Given the description of an element on the screen output the (x, y) to click on. 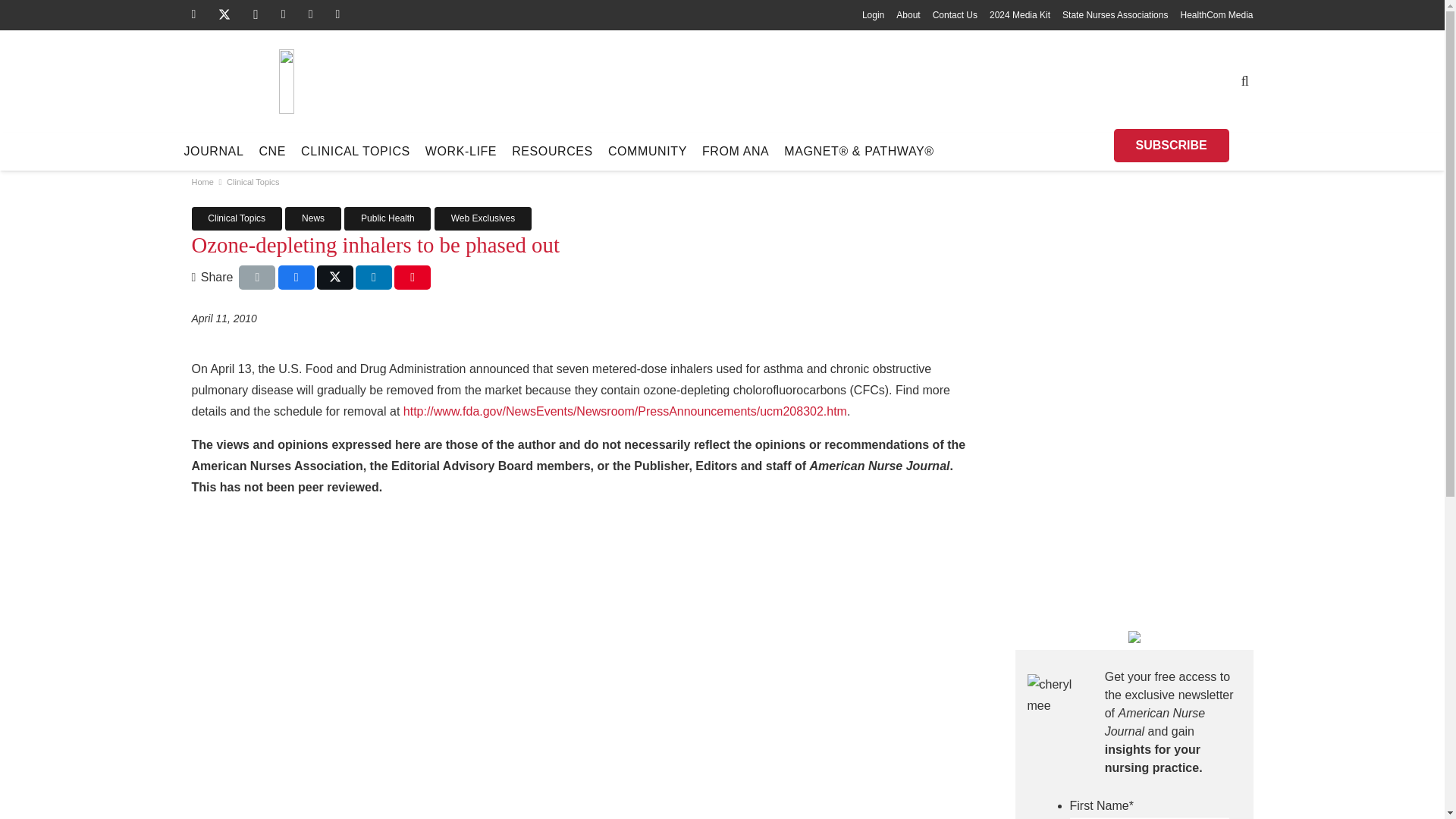
Login (872, 14)
Email this (256, 277)
HealthCom Media (1215, 14)
Pin this (412, 277)
CNE (272, 151)
Share this (373, 277)
Tweet this (335, 277)
About (908, 14)
Contact Us (954, 14)
2024 Media Kit (1019, 14)
